Given the description of an element on the screen output the (x, y) to click on. 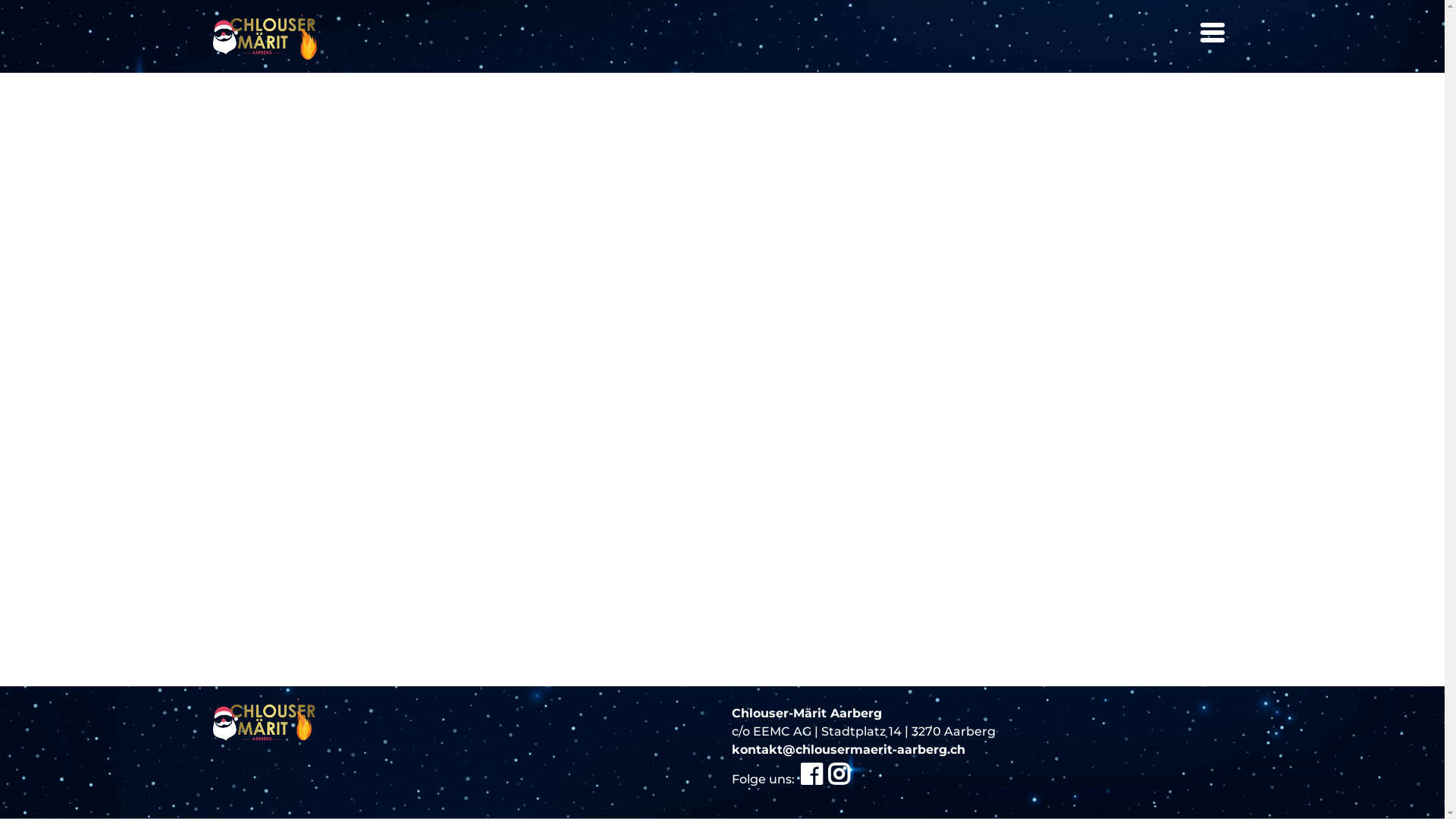
kontakt@chlousermaerit-aarberg.ch Element type: text (847, 749)
